Given the description of an element on the screen output the (x, y) to click on. 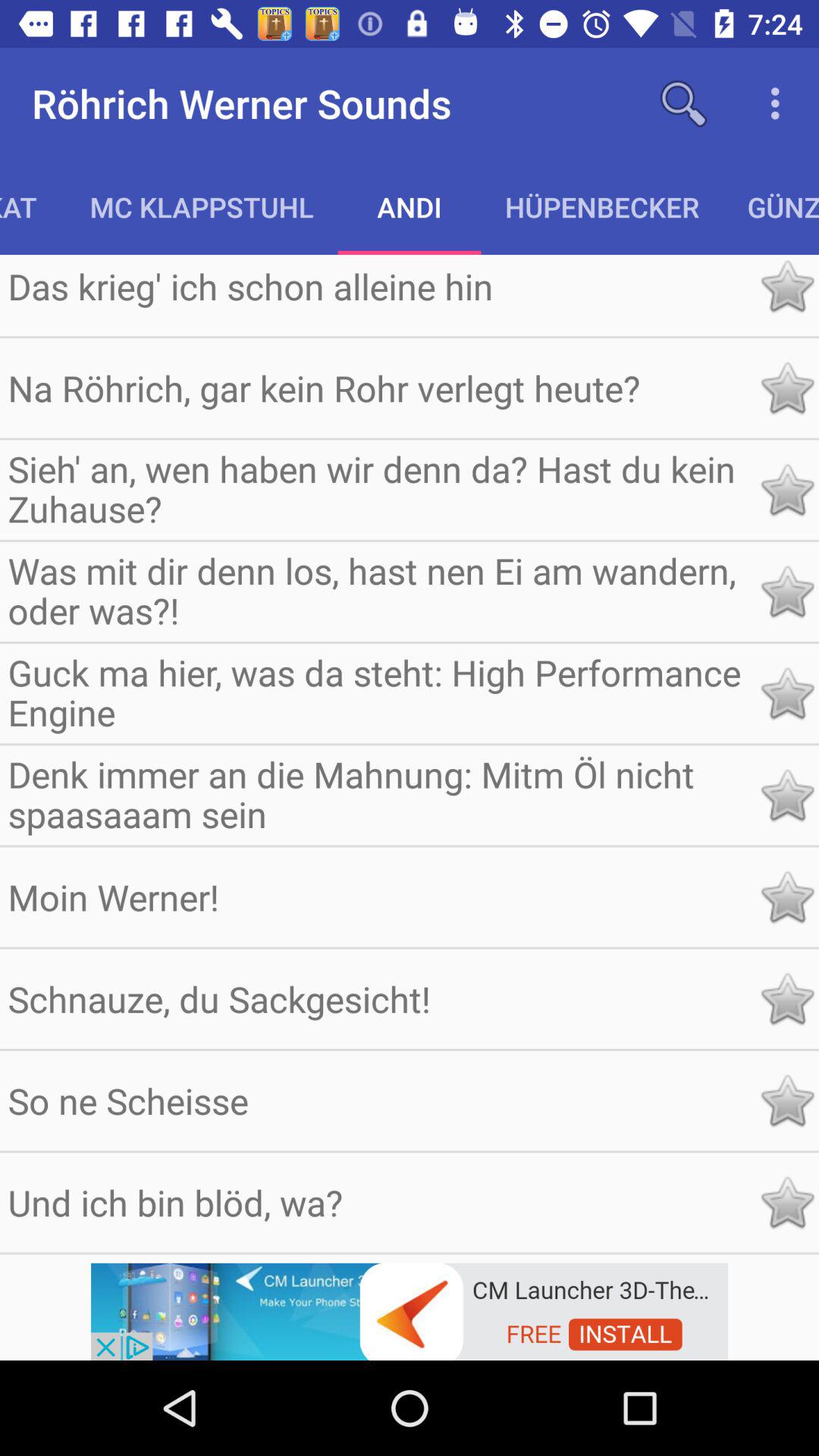
rate (787, 693)
